Given the description of an element on the screen output the (x, y) to click on. 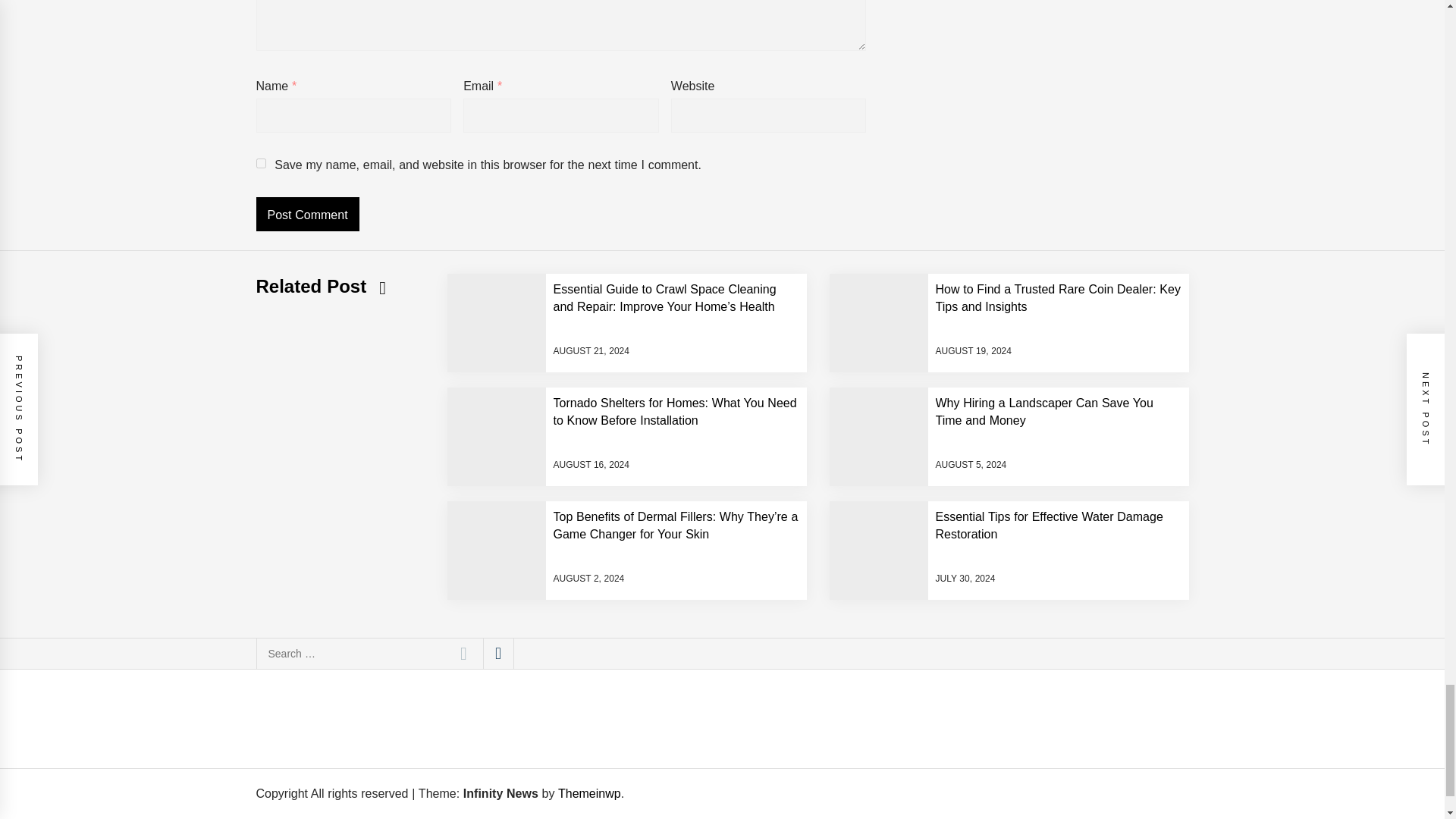
Search (462, 653)
Search (462, 653)
Post Comment (307, 213)
yes (261, 163)
